Given the description of an element on the screen output the (x, y) to click on. 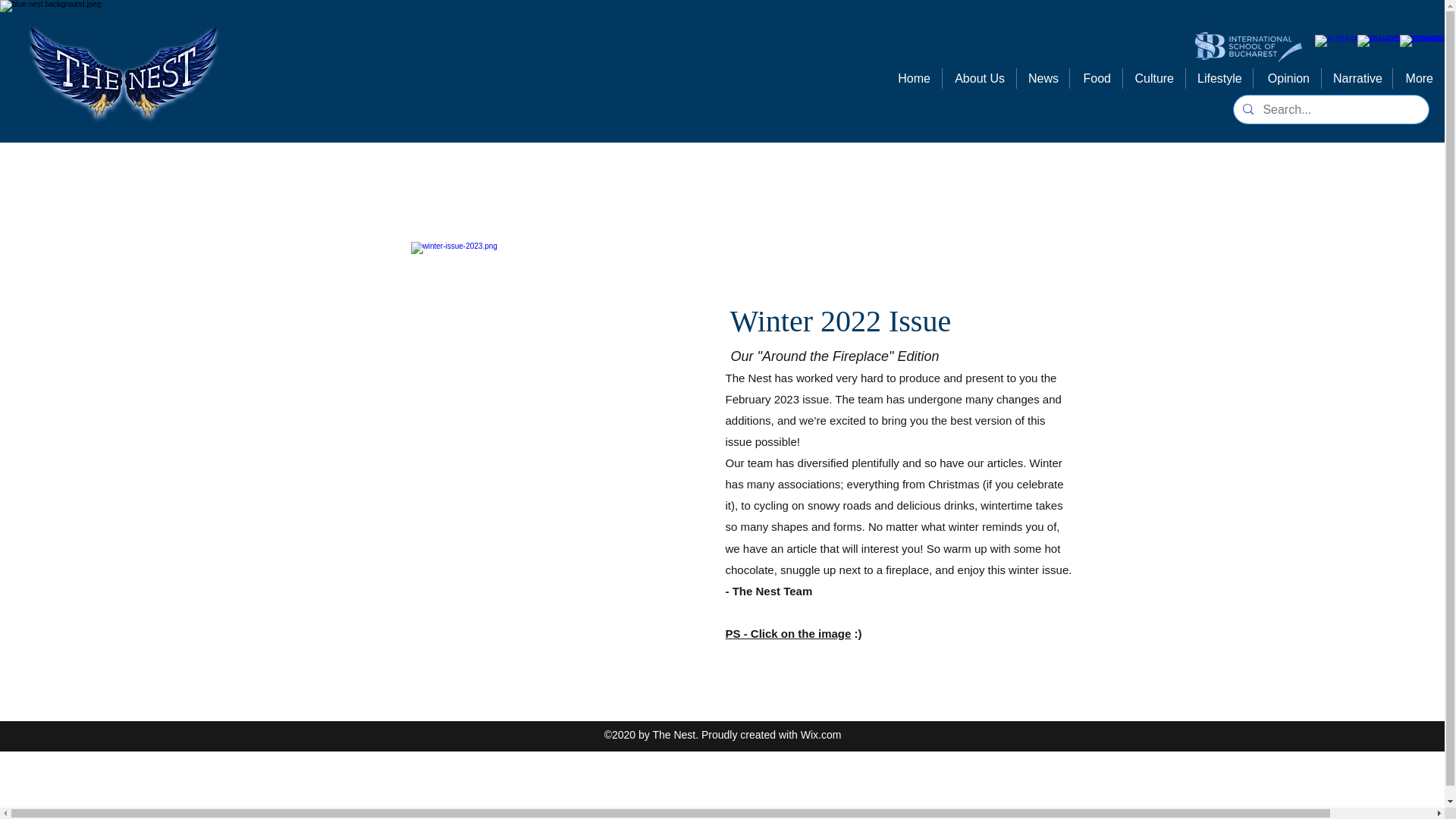
News (1042, 77)
Home (913, 77)
About Us (979, 77)
Narrative (1356, 77)
Culture (1153, 77)
Opinion (1286, 77)
Food (1096, 77)
Lifestyle (1219, 77)
